Given the description of an element on the screen output the (x, y) to click on. 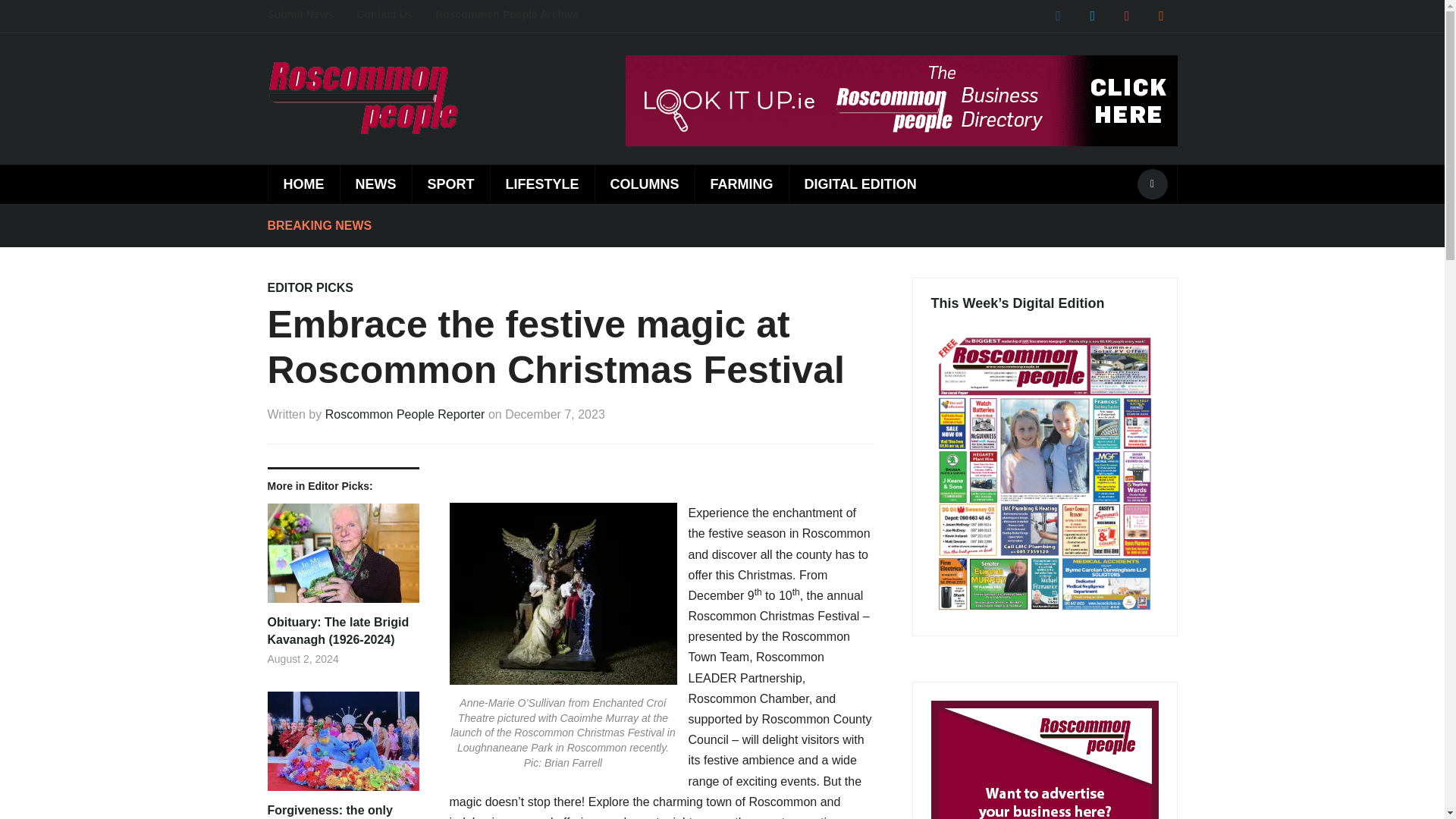
COLUMNS (644, 184)
SPORT (449, 184)
twitter (1092, 14)
rss (1160, 14)
Follow Me (1092, 14)
DIGITAL EDITION (860, 184)
Search (1152, 183)
instagram (1126, 14)
NEWS (375, 184)
Submit News (311, 15)
LIFESTYLE (541, 184)
Roscommon People Archive (518, 15)
Contact Us (395, 15)
facebook (1057, 14)
EDITOR PICKS (309, 287)
